Given the description of an element on the screen output the (x, y) to click on. 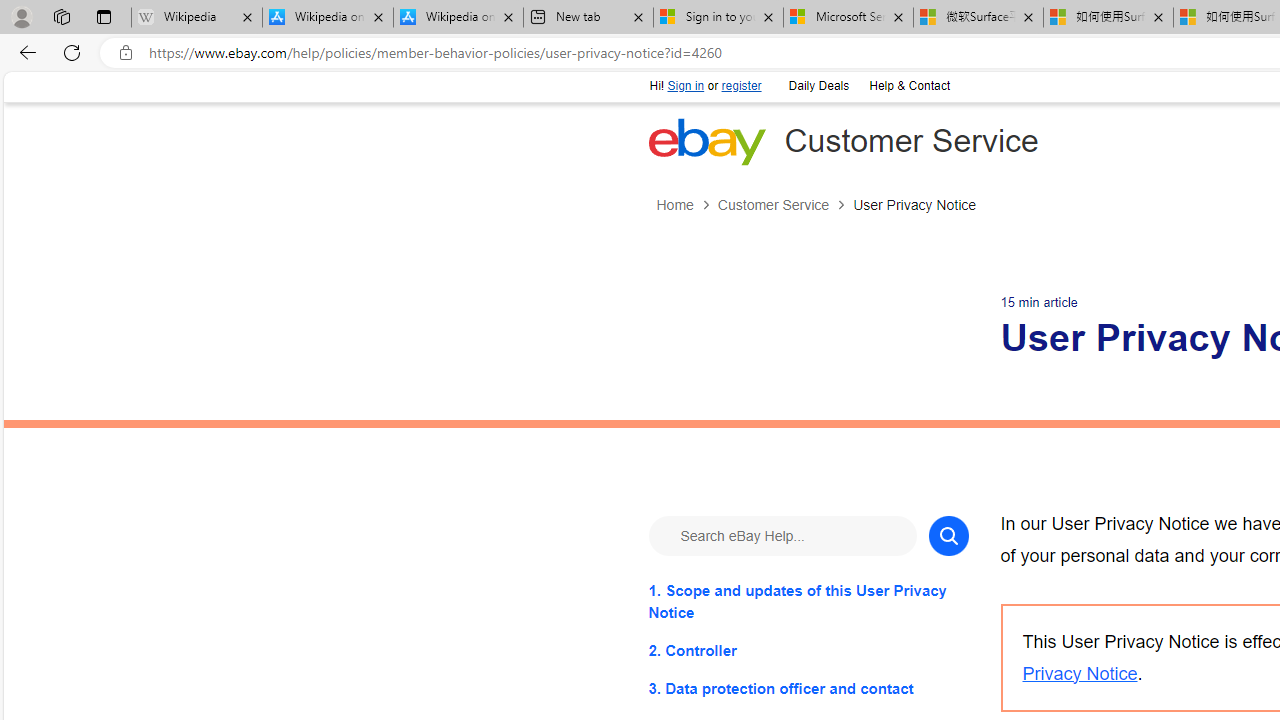
Help & Contact (907, 84)
Customer Service (772, 205)
register (740, 85)
3. Data protection officer and contact (807, 687)
